Given the description of an element on the screen output the (x, y) to click on. 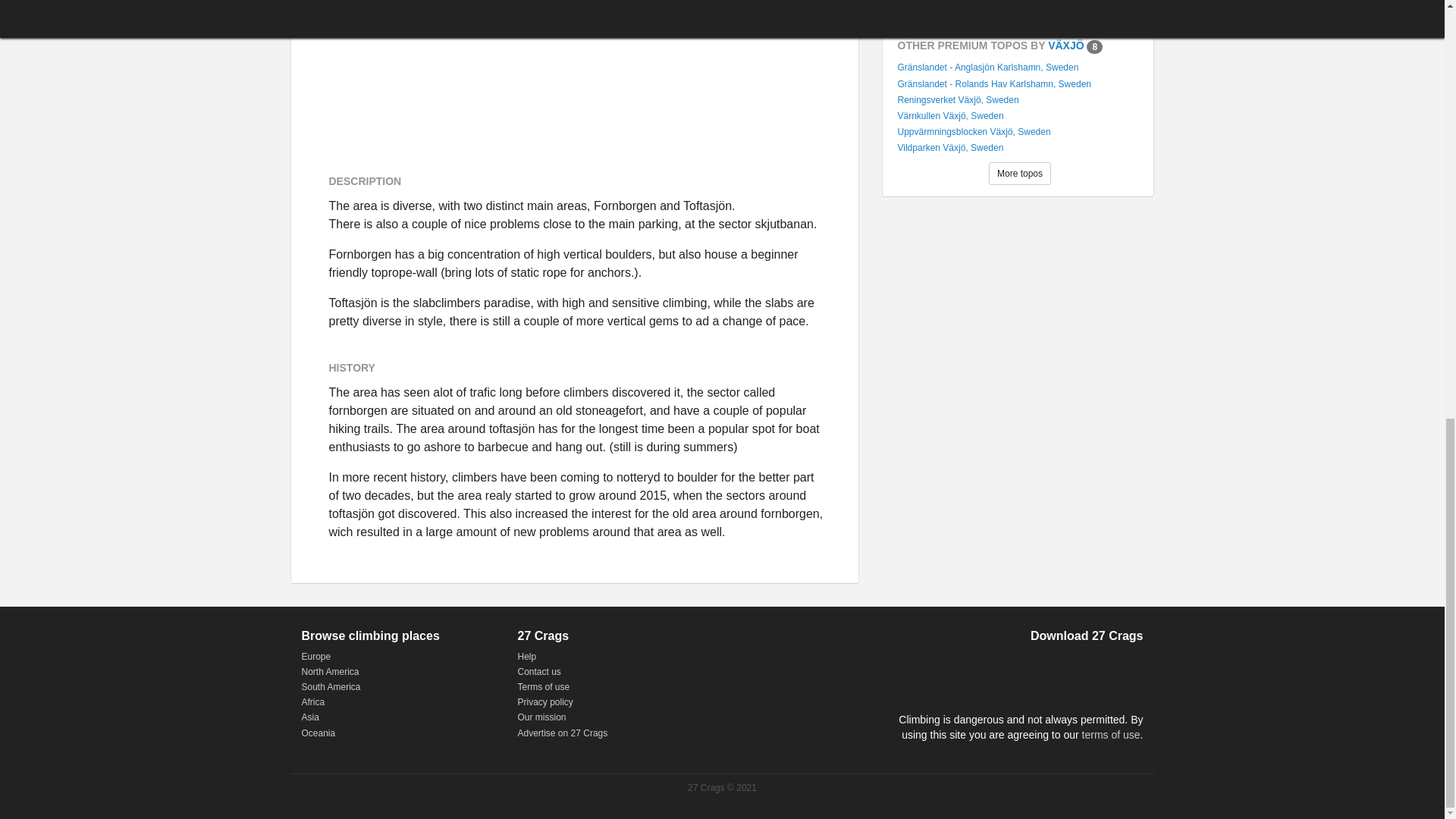
North America (330, 671)
More topos (1019, 173)
Europe (316, 656)
